Given the description of an element on the screen output the (x, y) to click on. 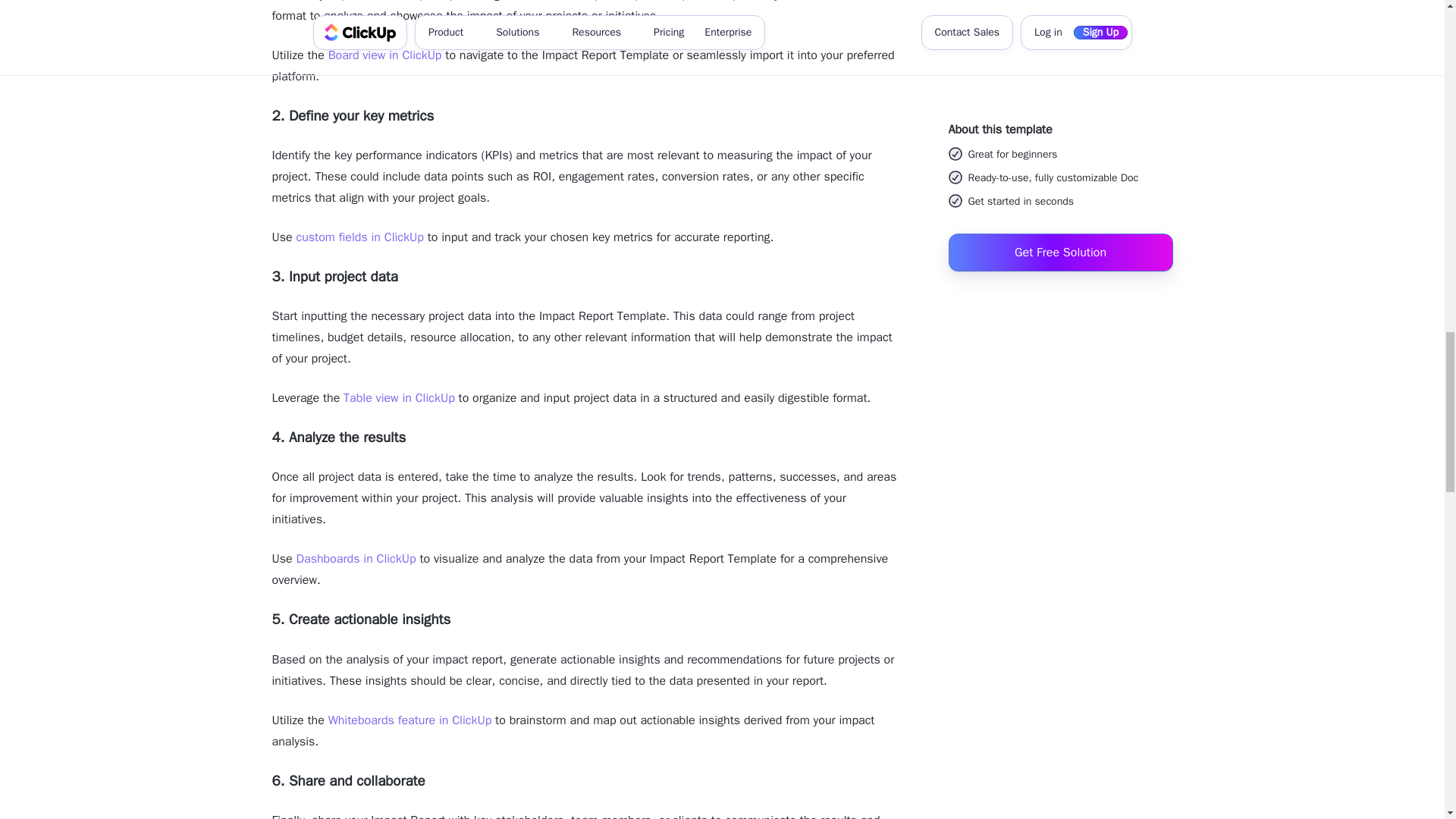
Table view in ClickUp (398, 397)
custom fields in ClickUp (359, 237)
Board view in ClickUp (385, 55)
Whiteboards feature in ClickUp (410, 720)
Dashboards in ClickUp (354, 558)
